Given the description of an element on the screen output the (x, y) to click on. 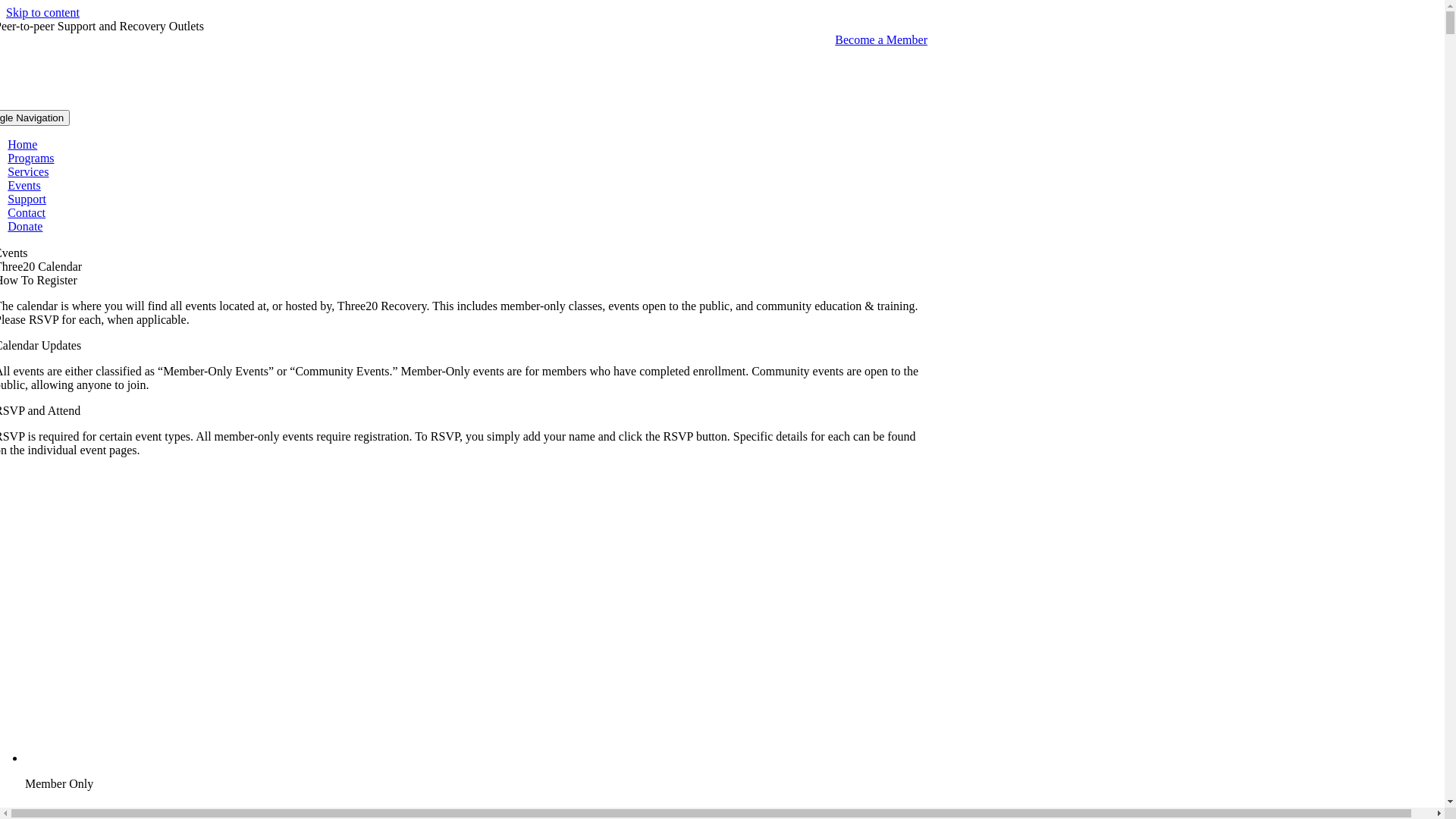
Home Element type: text (22, 144)
Skip to content Element type: text (42, 12)
Programs Element type: text (30, 157)
Events Element type: text (23, 184)
Donate Element type: text (24, 225)
Become a Member Element type: text (880, 39)
Contact Element type: text (26, 212)
Support Element type: text (26, 198)
Services Element type: text (27, 171)
